Given the description of an element on the screen output the (x, y) to click on. 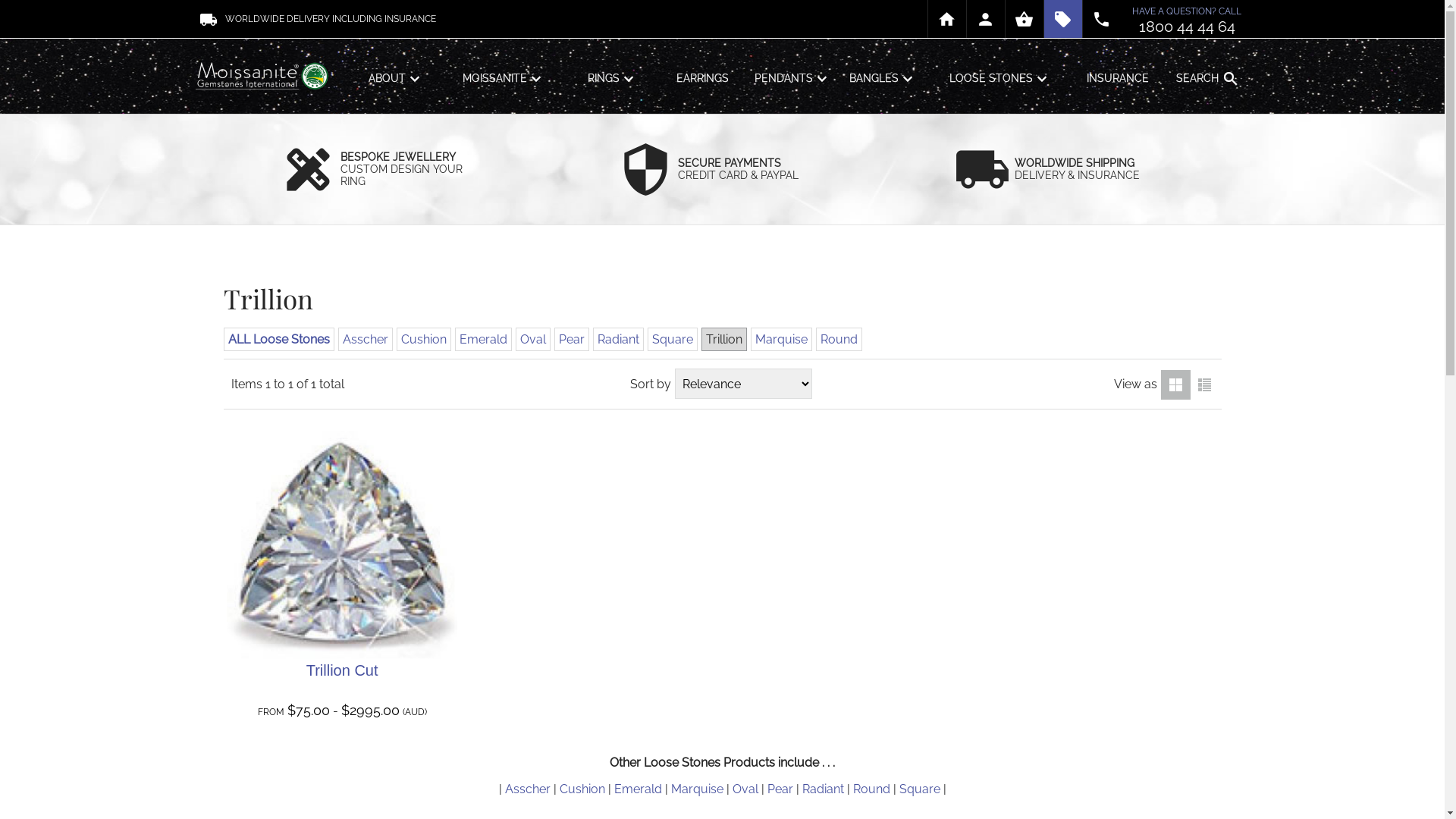
person Element type: text (985, 18)
Radiant Element type: text (823, 788)
Marquise Element type: text (696, 788)
SEARCH search Element type: text (1207, 78)
Round Element type: text (838, 339)
Emerald Element type: text (638, 788)
Marquise Element type: text (781, 339)
ABOUTexpand_more Element type: text (395, 78)
MOISSANITEexpand_more Element type: text (504, 78)
Round Element type: text (870, 788)
local_offer Element type: text (1062, 18)
Radiant Element type: text (618, 339)
RINGSexpand_more Element type: text (612, 78)
BANGLESexpand_more Element type: text (882, 78)
Oval Element type: text (745, 788)
Cushion Element type: text (582, 788)
Asscher Element type: text (527, 788)
Asscher Element type: text (365, 339)
Square Element type: text (919, 788)
Pear Element type: text (780, 788)
Pear Element type: text (570, 339)
phone Element type: text (1101, 18)
shopping_basket Element type: text (1024, 18)
Trillion Cut Element type: text (342, 670)
SEARCH Element type: text (1202, 127)
PENDANTSexpand_more Element type: text (792, 78)
Square Element type: text (672, 339)
home Element type: text (947, 18)
ALL Loose Stones Element type: text (278, 339)
1800 44 44 64 Element type: text (1187, 26)
EARRINGS Element type: text (702, 78)
INSURANCE Element type: text (1117, 78)
Emerald Element type: text (483, 339)
LOOSE STONESexpand_more Element type: text (1000, 78)
Cushion Element type: text (422, 339)
Oval Element type: text (533, 339)
